Given the description of an element on the screen output the (x, y) to click on. 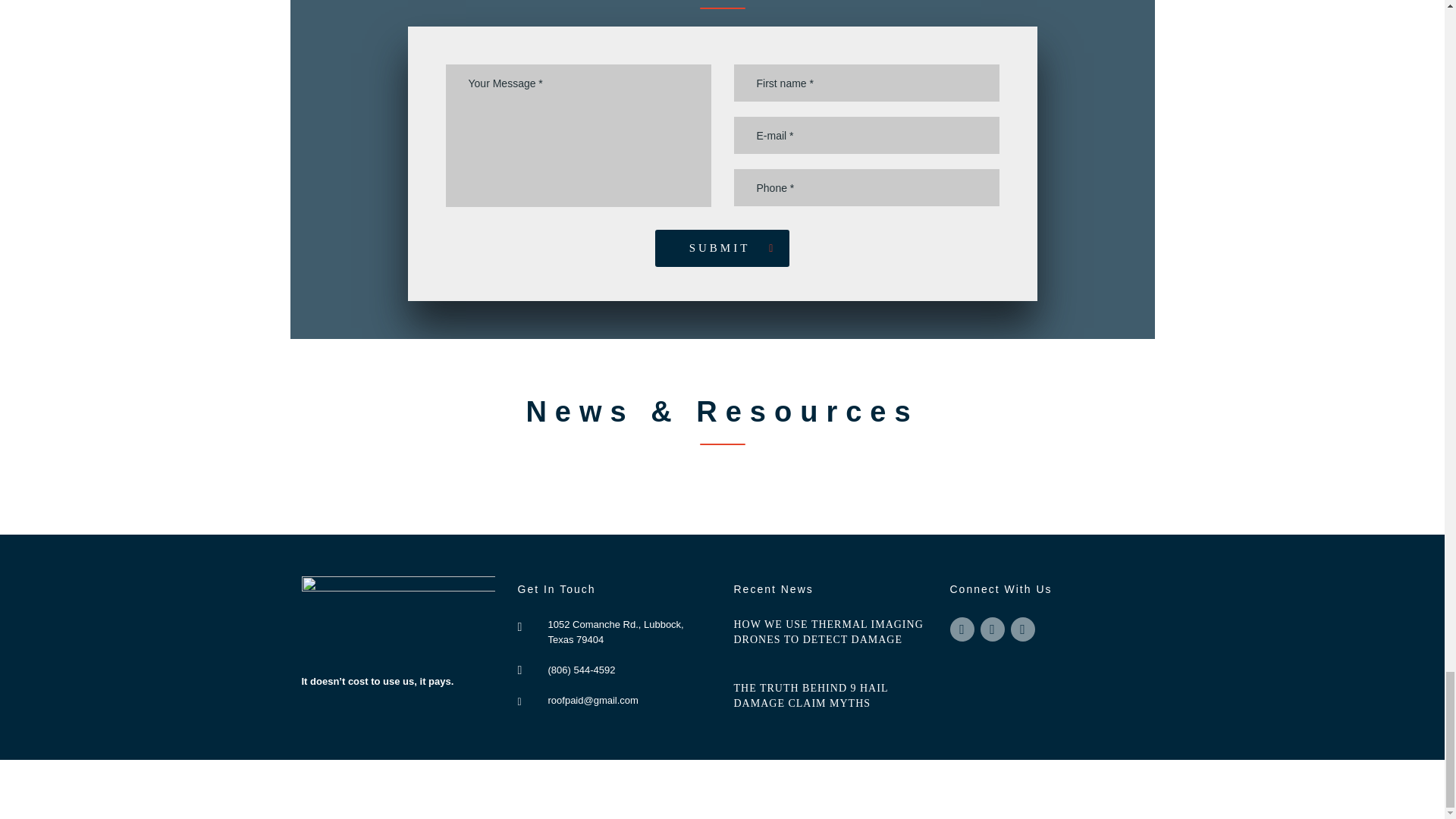
THE TRUTH BEHIND 9 HAIL DAMAGE CLAIM MYTHS (830, 695)
HOW WE USE THERMAL IMAGING DRONES TO DETECT DAMAGE (830, 632)
SUBMIT (722, 248)
